Given the description of an element on the screen output the (x, y) to click on. 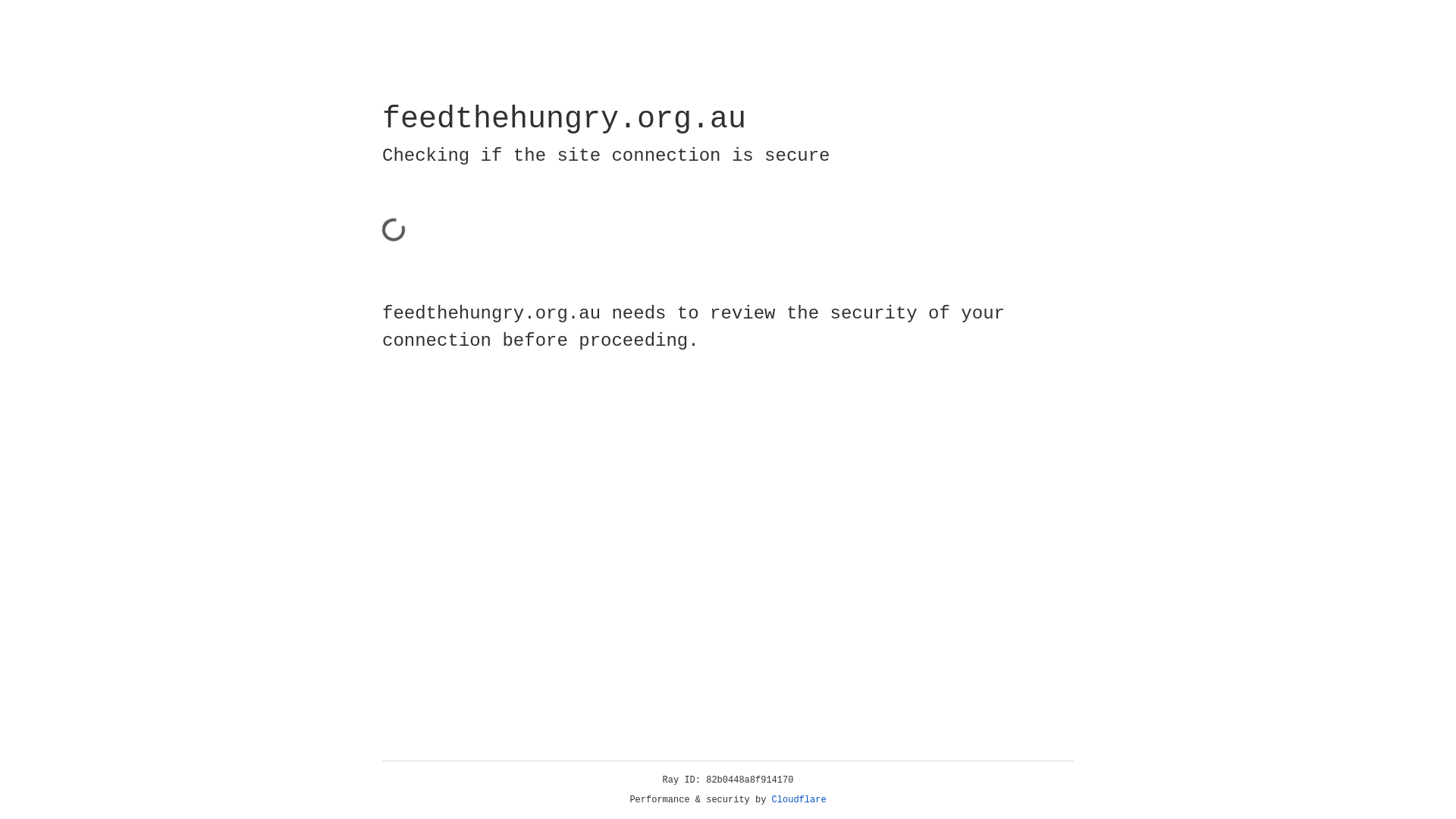
Cloudflare Element type: text (798, 799)
